Given the description of an element on the screen output the (x, y) to click on. 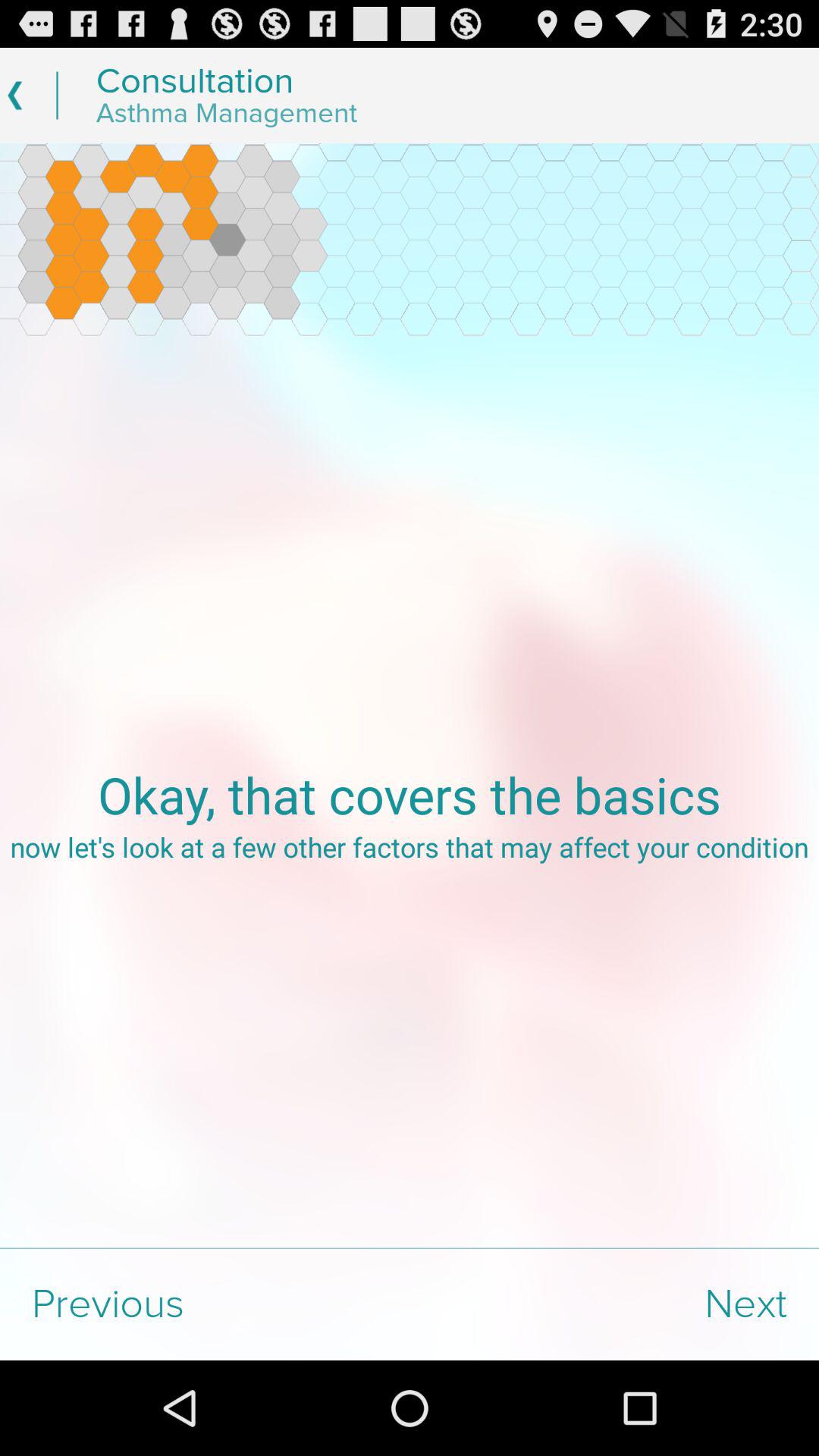
press the app next to the next icon (204, 1304)
